Given the description of an element on the screen output the (x, y) to click on. 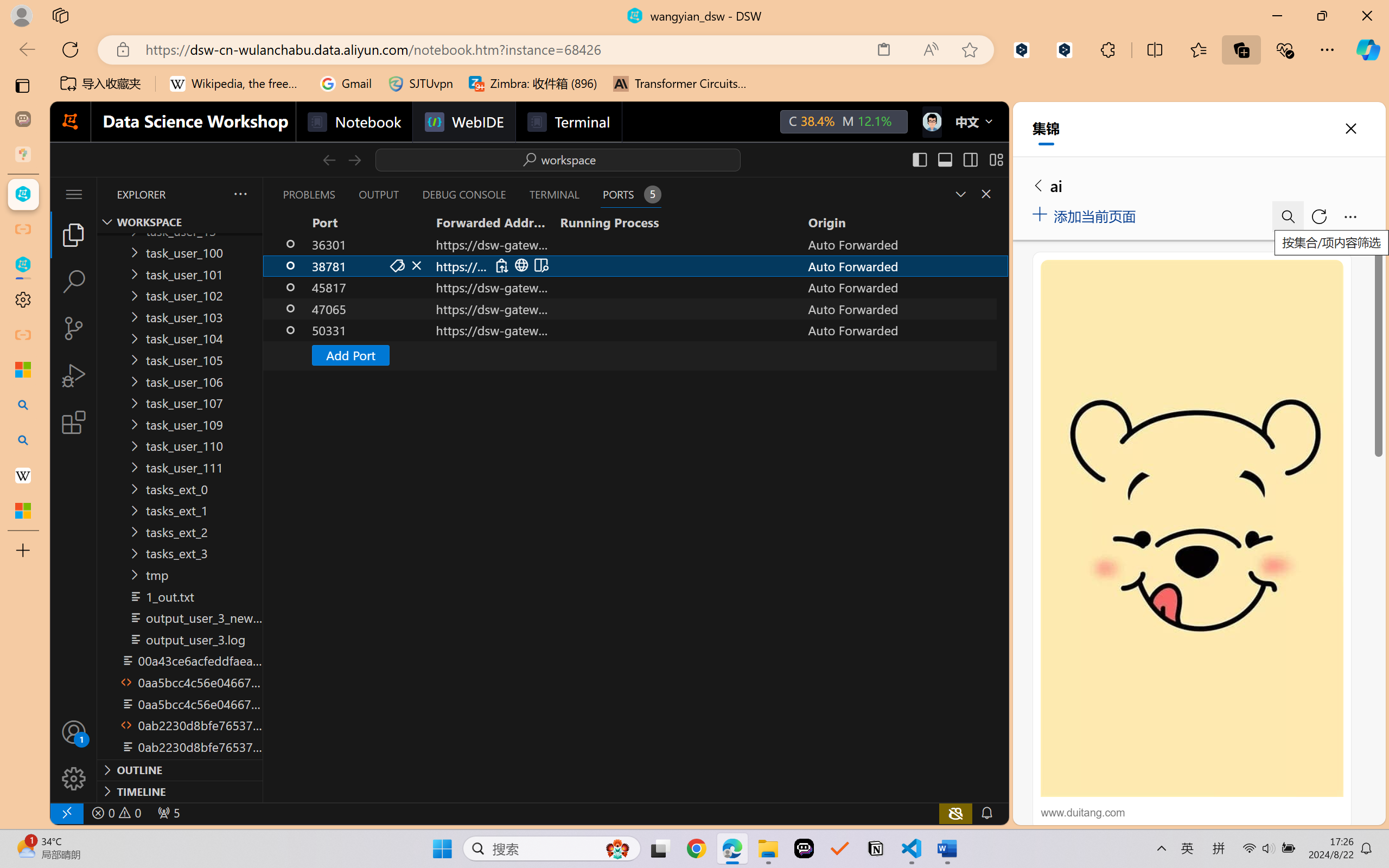
Application Menu (73, 194)
Stop Forwarding Port (Delete) (416, 265)
Accounts - Sign in requested (73, 732)
Open in Browser (520, 265)
Notifications (986, 812)
Gmail (345, 83)
Source Control (Ctrl+Shift+G) (73, 328)
Preview in Editor (540, 265)
